Given the description of an element on the screen output the (x, y) to click on. 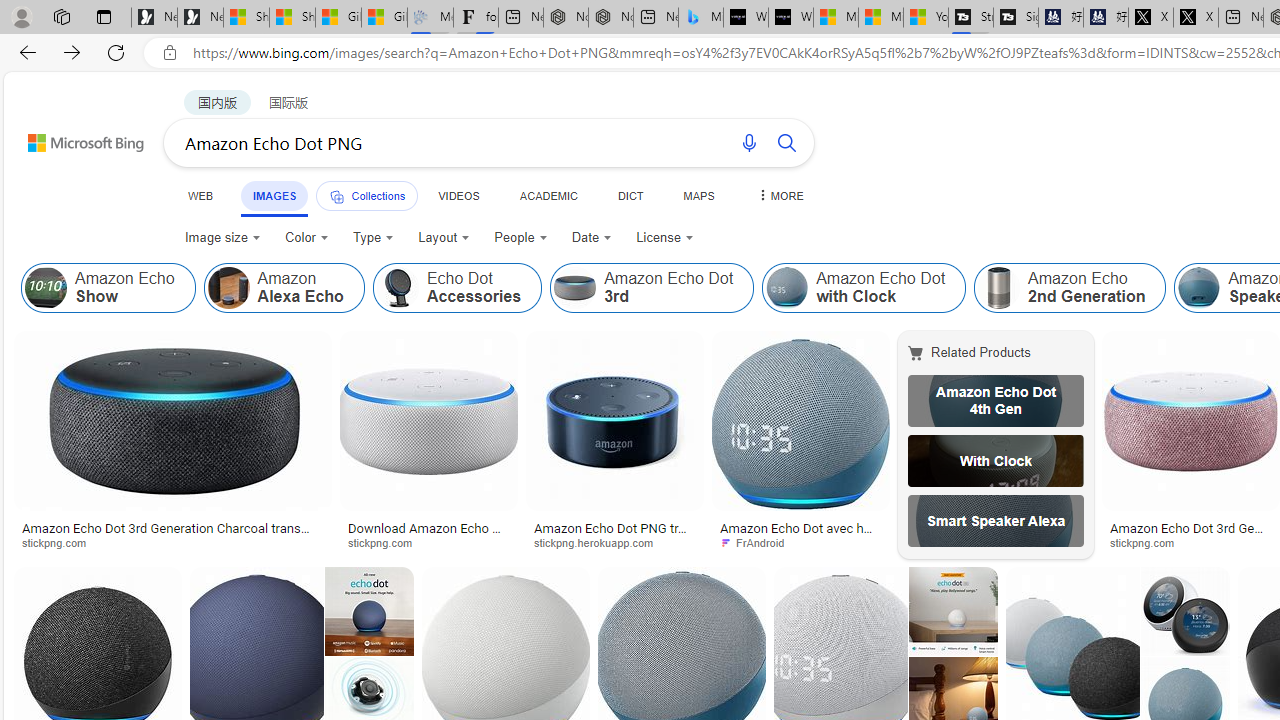
Echo Dot Accessories (397, 287)
X (1195, 17)
Amazon Echo Dot with Clock (864, 287)
Amazon Echo Show (45, 287)
ACADEMIC (548, 195)
VIDEOS (458, 195)
Microsoft Bing Travel - Shangri-La Hotel Bangkok (700, 17)
Search button (786, 142)
